Given the description of an element on the screen output the (x, y) to click on. 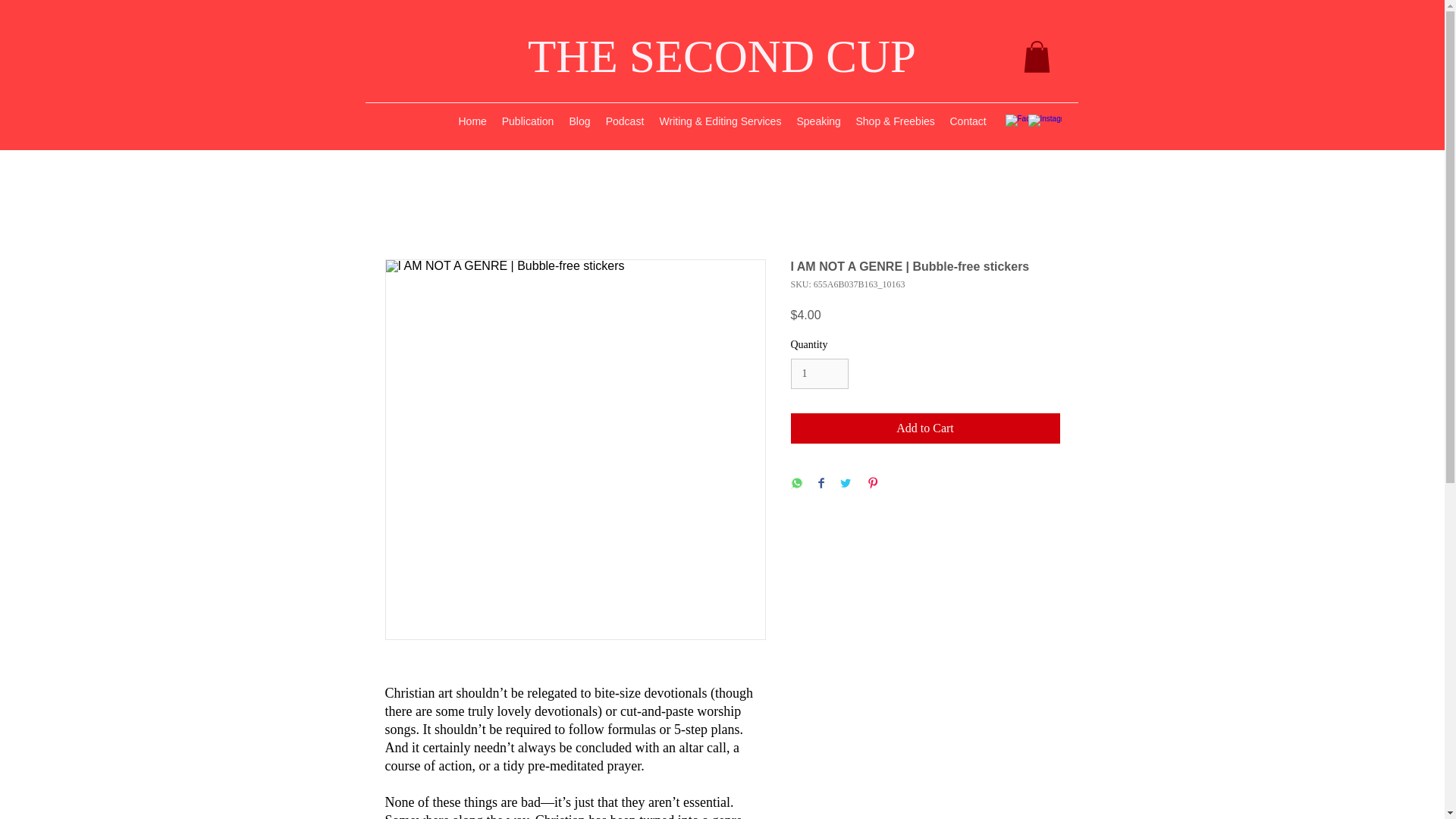
1 (818, 373)
Home (471, 120)
Publication (528, 120)
Contact (967, 120)
Podcast (623, 120)
Blog (578, 120)
Add to Cart (924, 428)
Speaking (818, 120)
